Given the description of an element on the screen output the (x, y) to click on. 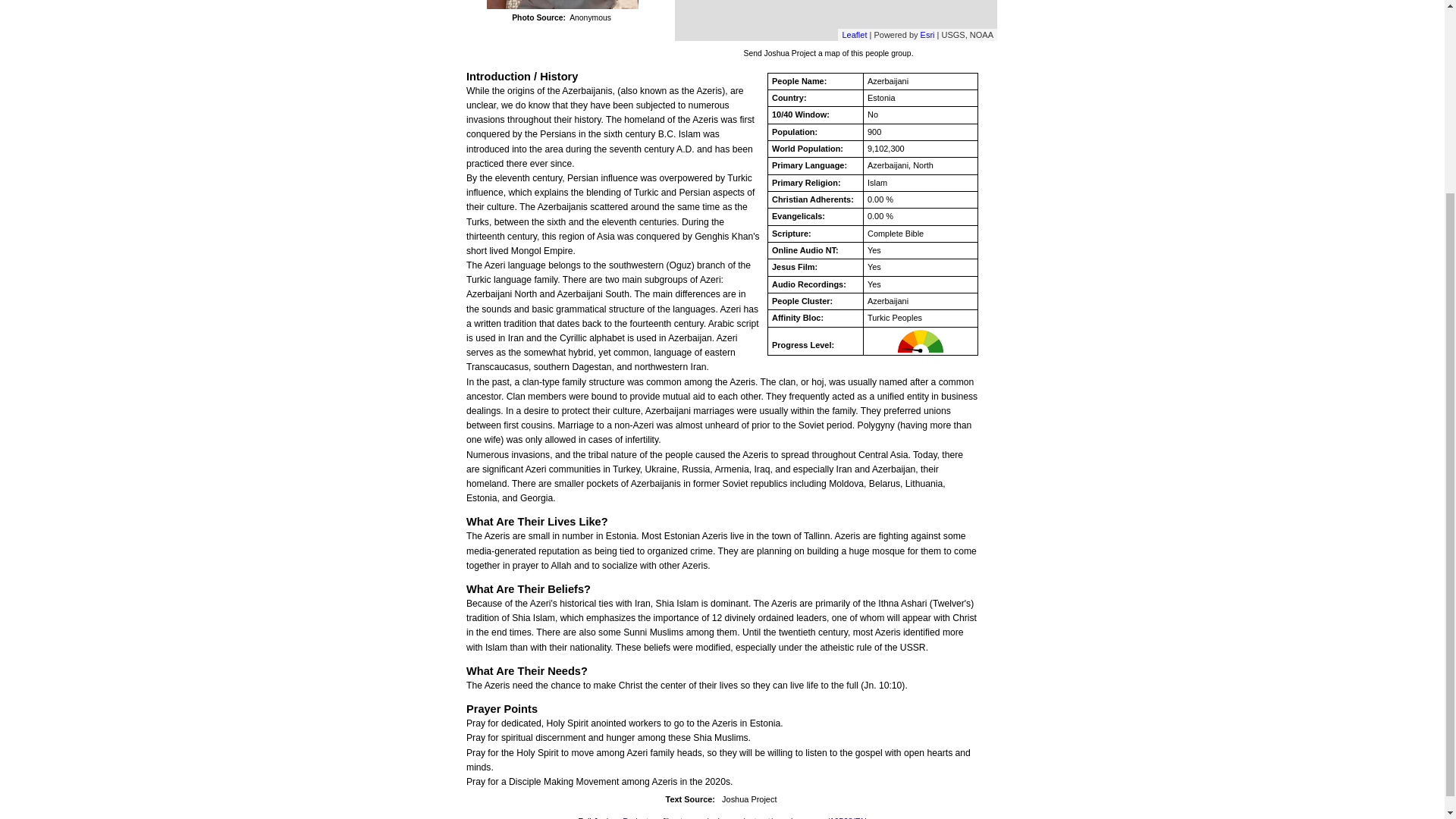
Leaflet (853, 34)
Esri (927, 34)
A JS library for interactive maps (853, 34)
